Given the description of an element on the screen output the (x, y) to click on. 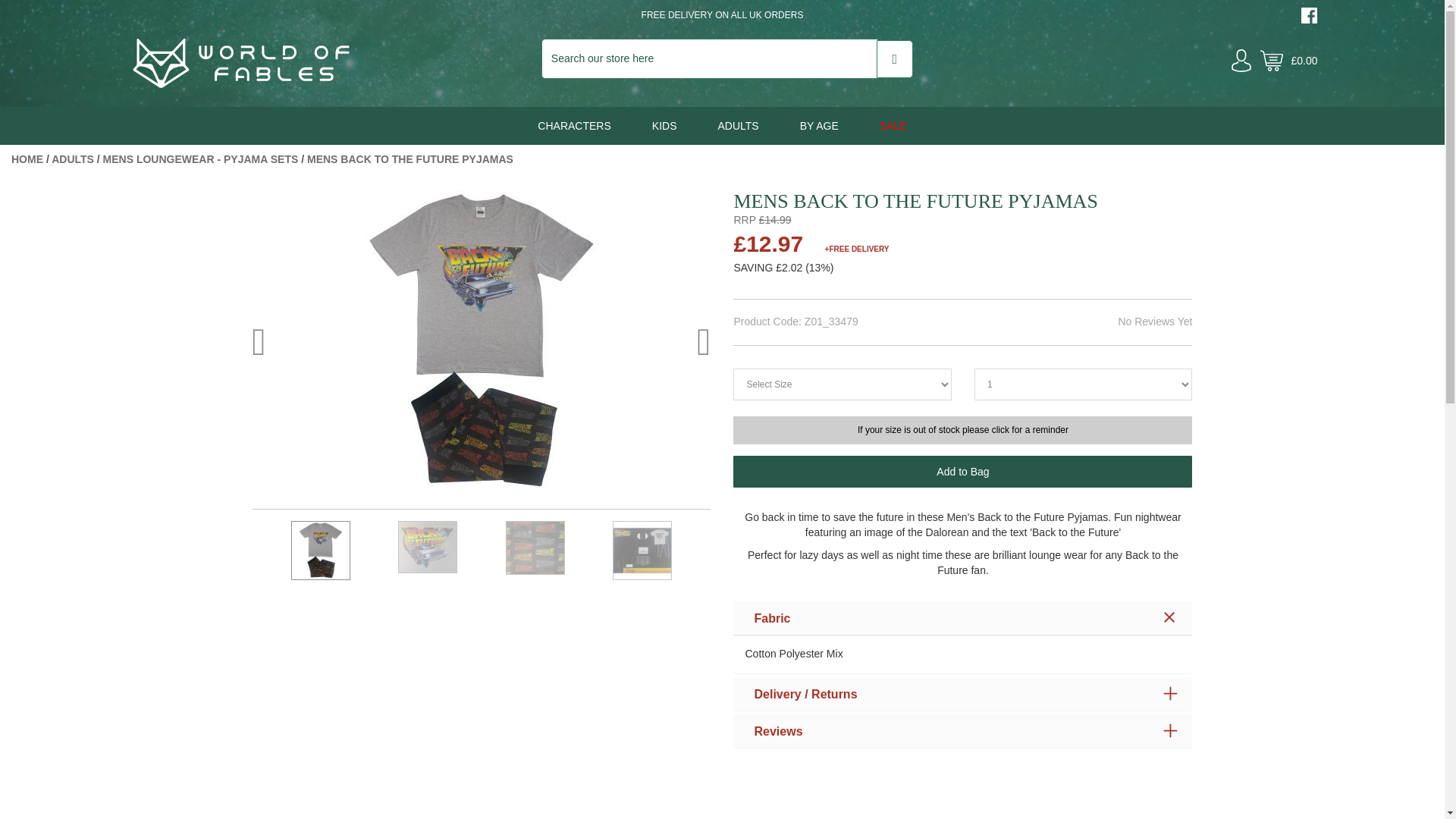
FREE DELIVERY ON ALL UK ORDERS (722, 14)
Adults (72, 159)
Home (27, 159)
Mens Loungewear - Pyjama Sets (200, 159)
Mens Back to the Future Pyjamas (410, 159)
CHARACTERS (573, 125)
World Of Fables (241, 83)
